Given the description of an element on the screen output the (x, y) to click on. 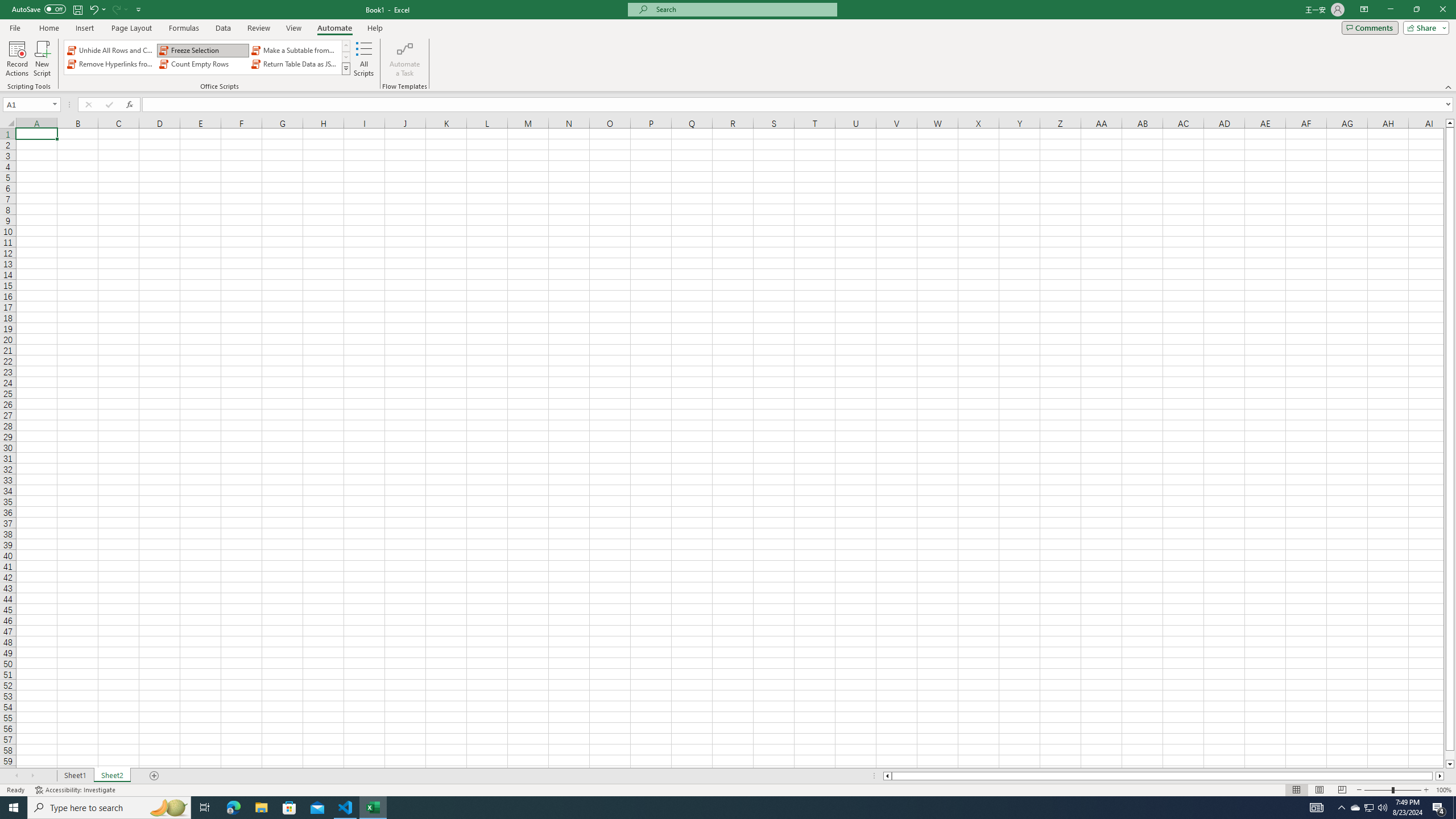
Class: NetUIImage (345, 68)
Collapse the Ribbon (1448, 86)
Line down (1449, 764)
Row up (346, 45)
Page down (1449, 755)
View (293, 28)
Save (77, 9)
Office Scripts (346, 68)
Help (374, 28)
Formula Bar (799, 104)
Customize Quick Access Toolbar (139, 9)
Zoom Out (1377, 790)
